Given the description of an element on the screen output the (x, y) to click on. 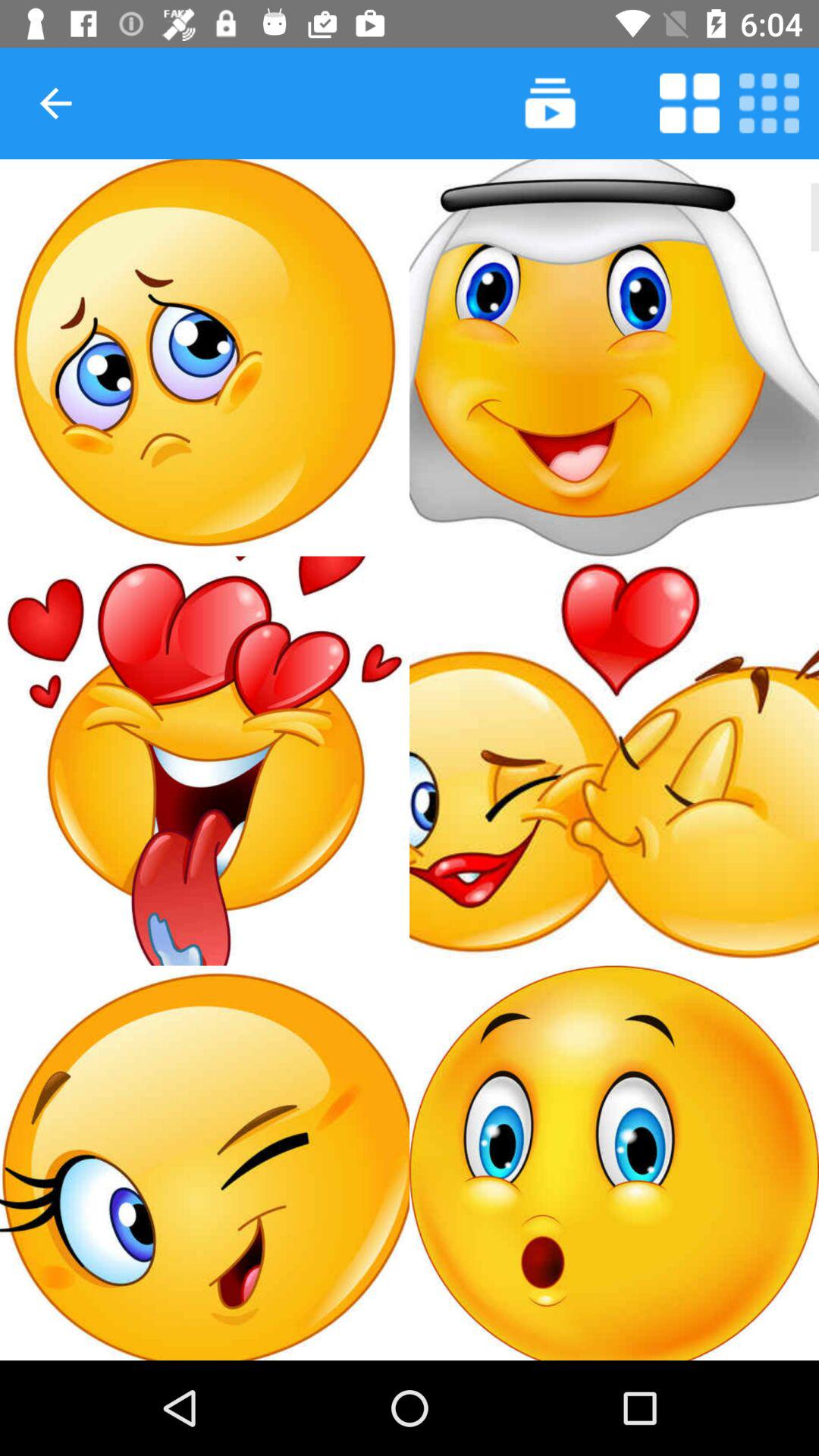
sad emoji (204, 357)
